Given the description of an element on the screen output the (x, y) to click on. 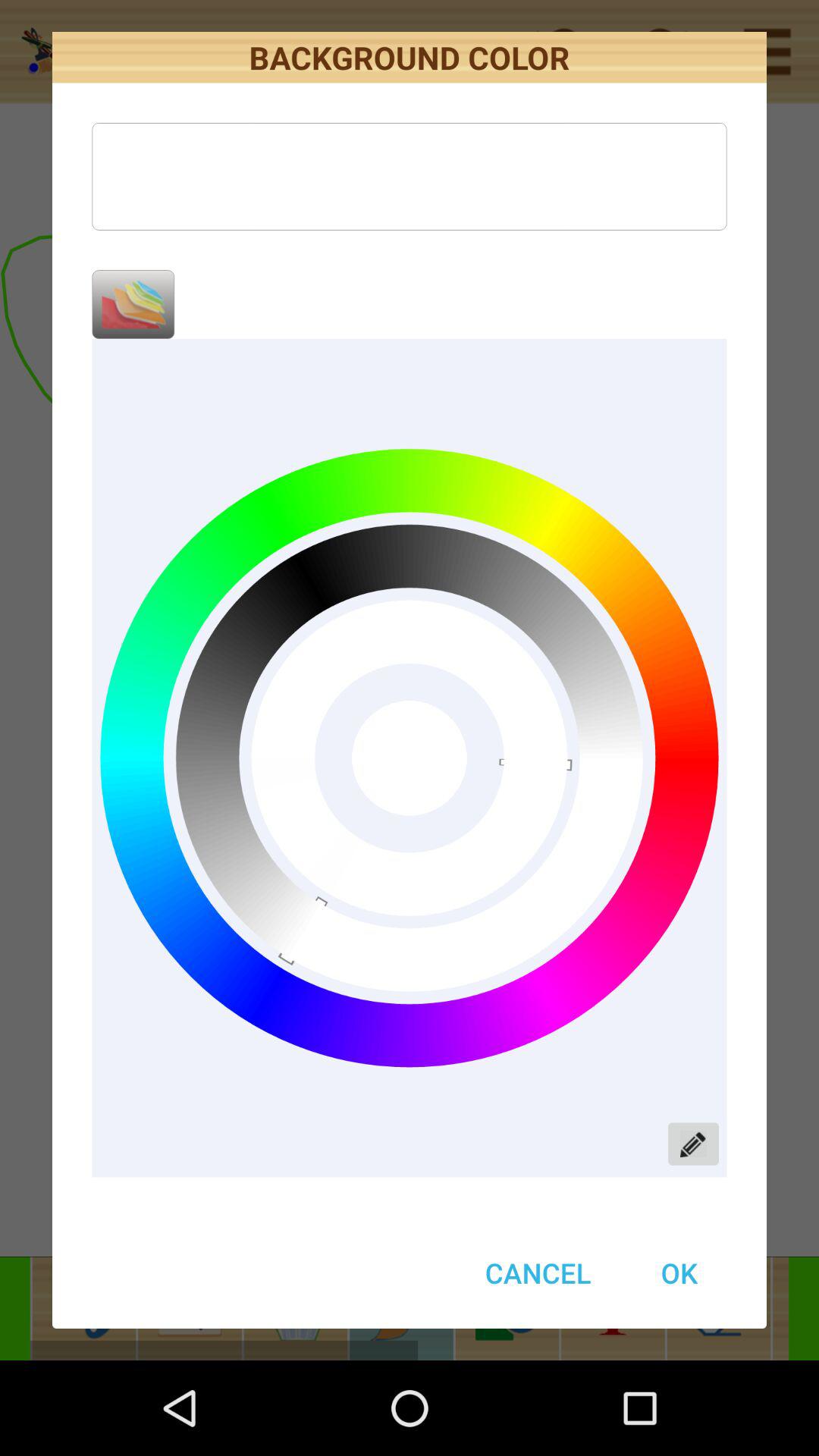
launch item at the bottom (538, 1272)
